Given the description of an element on the screen output the (x, y) to click on. 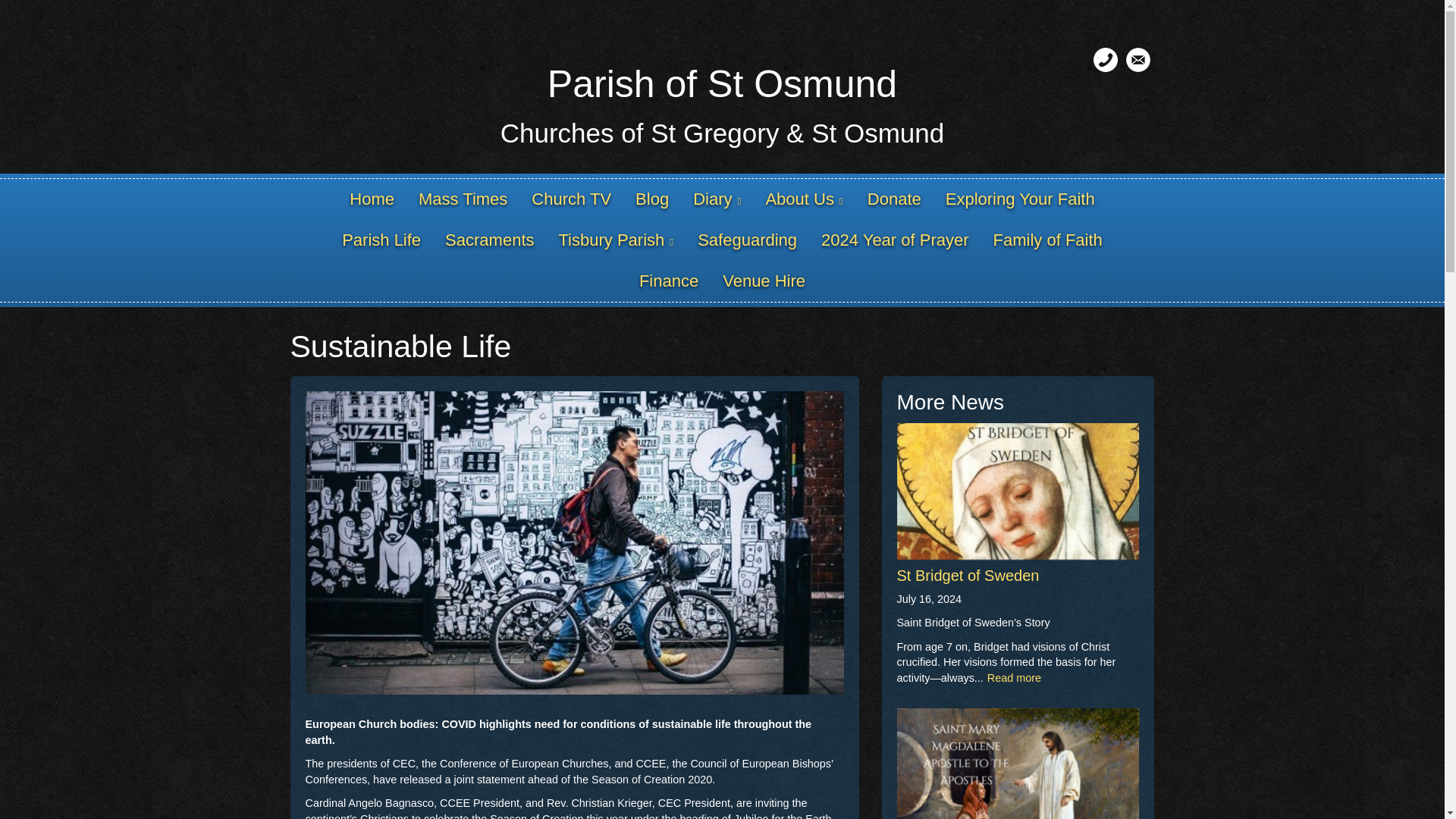
Contact (1105, 59)
Mass Times (462, 199)
St Bridget of Sweden (967, 575)
E-Mail (1137, 59)
Church TV (571, 199)
2024 Year of Prayer (894, 240)
Finance (668, 281)
Donate (894, 199)
Home (371, 199)
Blog (652, 199)
Tisbury Parish (615, 240)
Venue Hire (763, 281)
Diary (716, 199)
Read more (1014, 677)
